Given the description of an element on the screen output the (x, y) to click on. 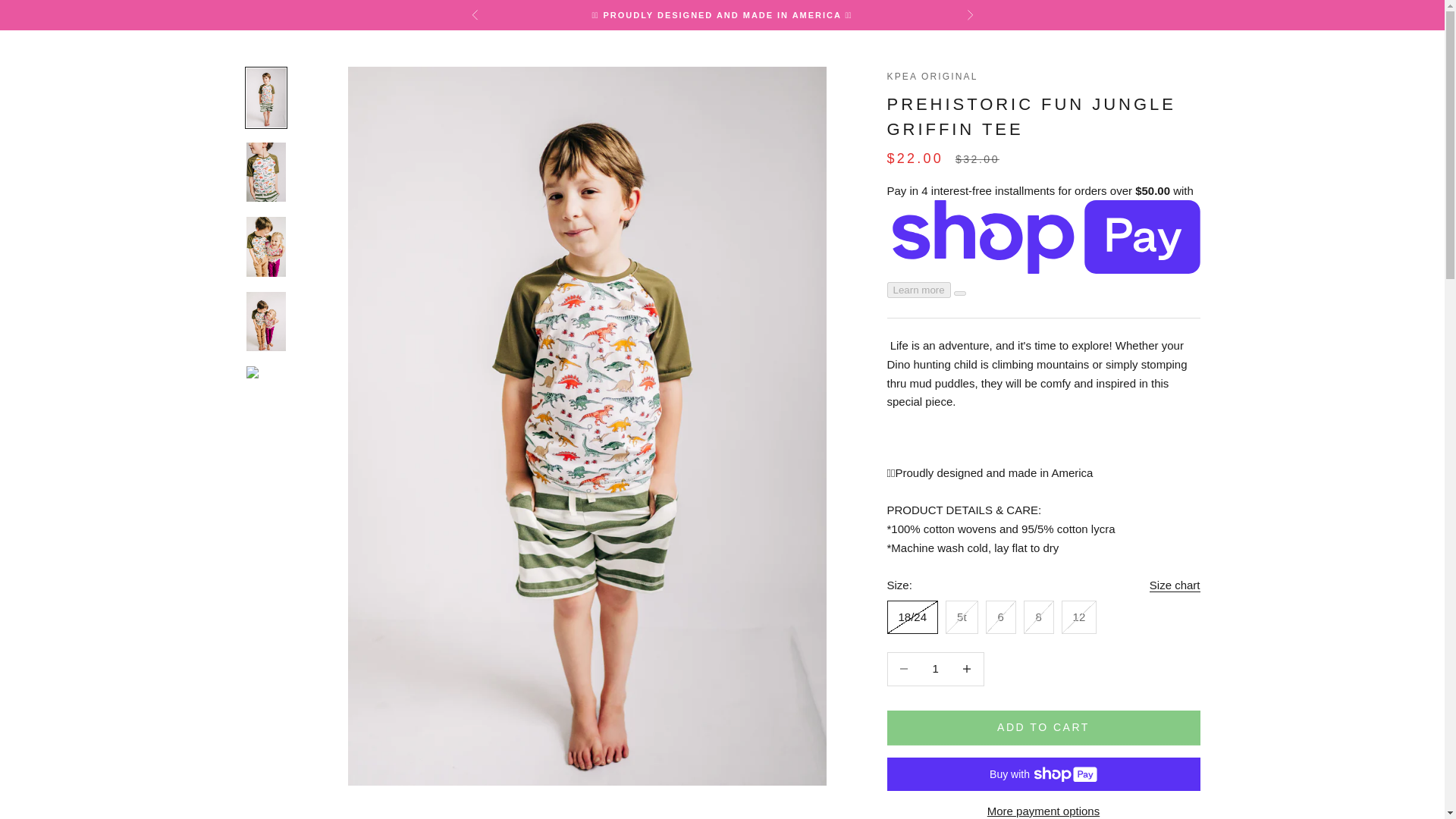
Decrease quantity (903, 668)
Size chart (1174, 585)
1 (935, 668)
More payment options (1042, 810)
ADD TO CART (1042, 727)
Decrease quantity (967, 668)
KPEA ORIGINAL (932, 76)
